Given the description of an element on the screen output the (x, y) to click on. 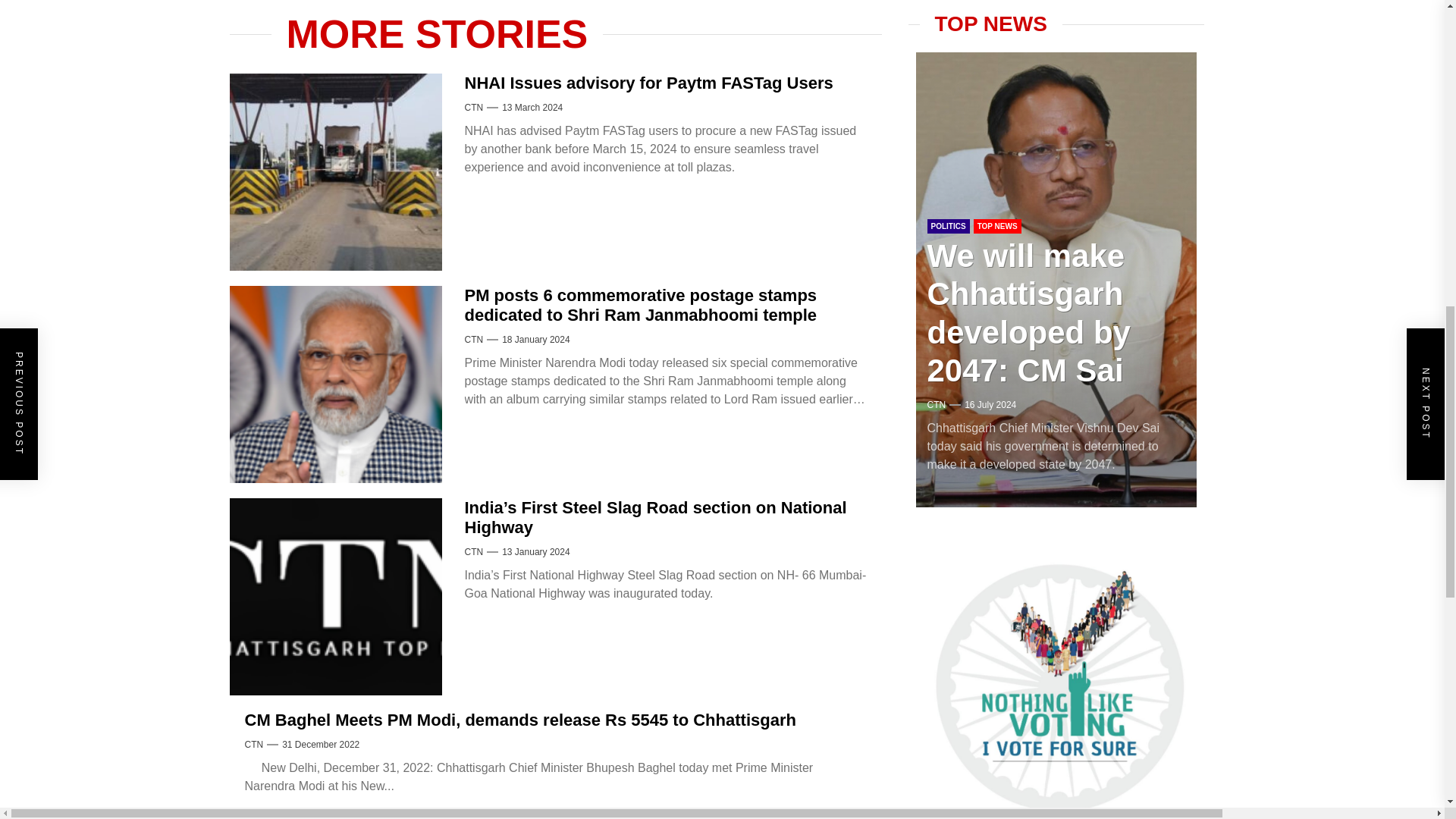
We will make Chhattisgarh developed by 2047: CM Sai (1027, 61)
